Given the description of an element on the screen output the (x, y) to click on. 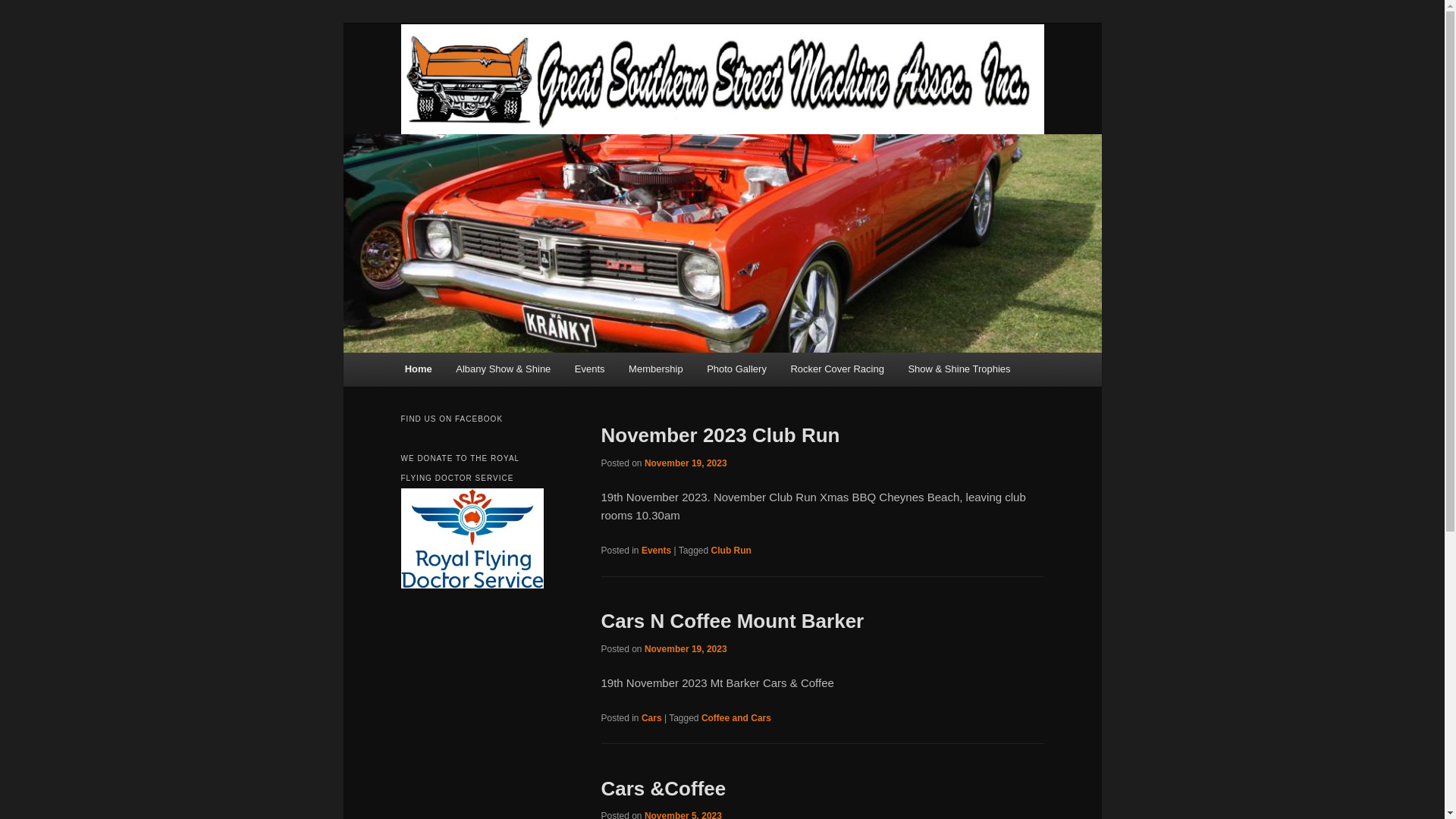
Skip to primary content Element type: text (414, 352)
Coffee and Cars Element type: text (736, 717)
Cars Element type: text (651, 717)
Club Run Element type: text (731, 550)
November 19, 2023 Element type: text (685, 463)
Home Element type: text (418, 368)
Albany Show & Shine Element type: text (503, 368)
Membership Element type: text (655, 368)
November 19, 2023 Element type: text (685, 648)
Rocker Cover Racing Element type: text (837, 368)
Show & Shine Trophies Element type: text (959, 368)
Cars &Coffee Element type: text (662, 788)
Events Element type: text (589, 368)
November 2023 Club Run Element type: text (719, 434)
Photo Gallery Element type: text (736, 368)
Great Southern Street Machines Association Element type: hover (721, 79)
Cars N Coffee Mount Barker Element type: text (731, 620)
Events Element type: text (656, 550)
